Given the description of an element on the screen output the (x, y) to click on. 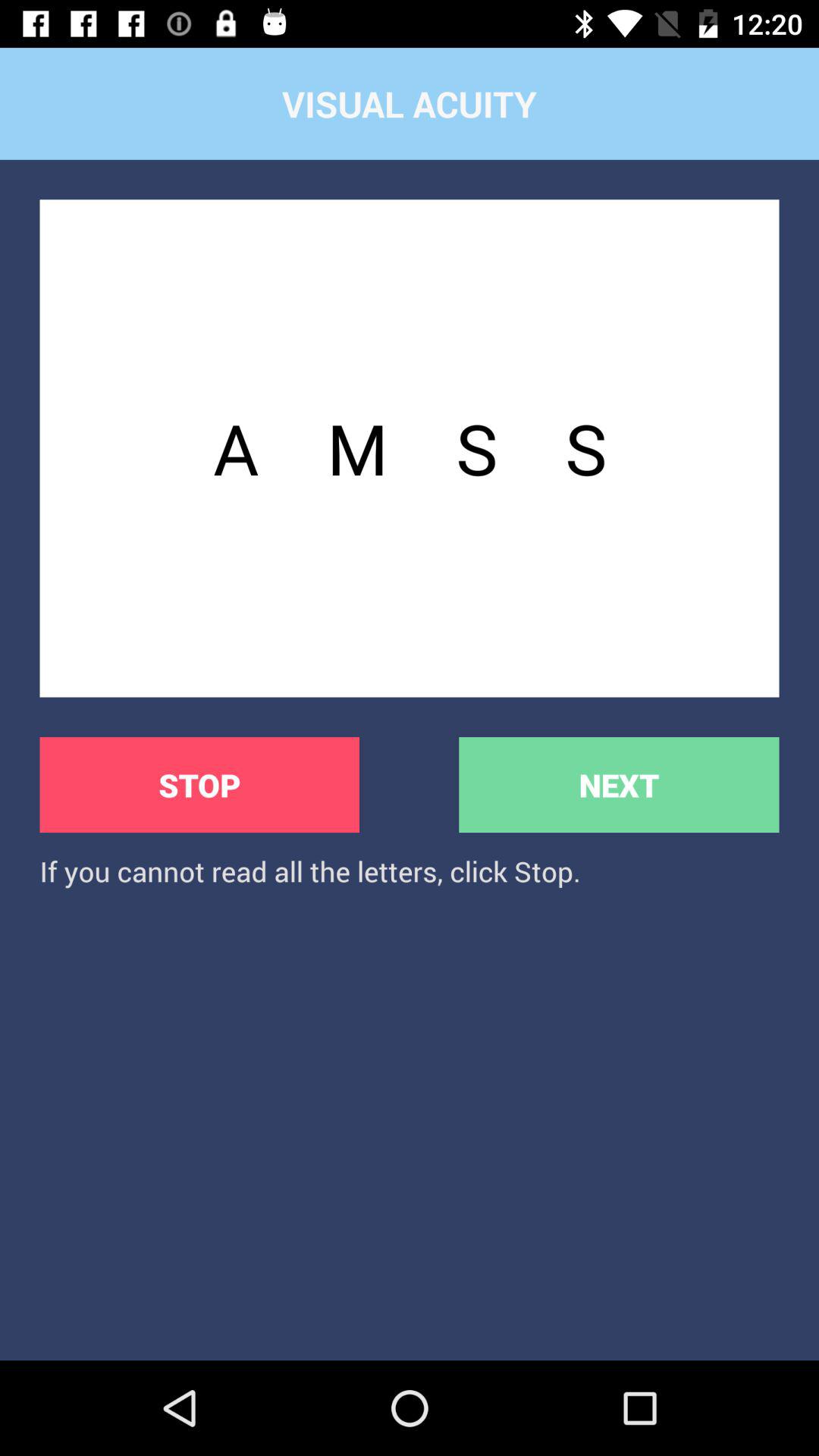
press the next button (618, 784)
